Given the description of an element on the screen output the (x, y) to click on. 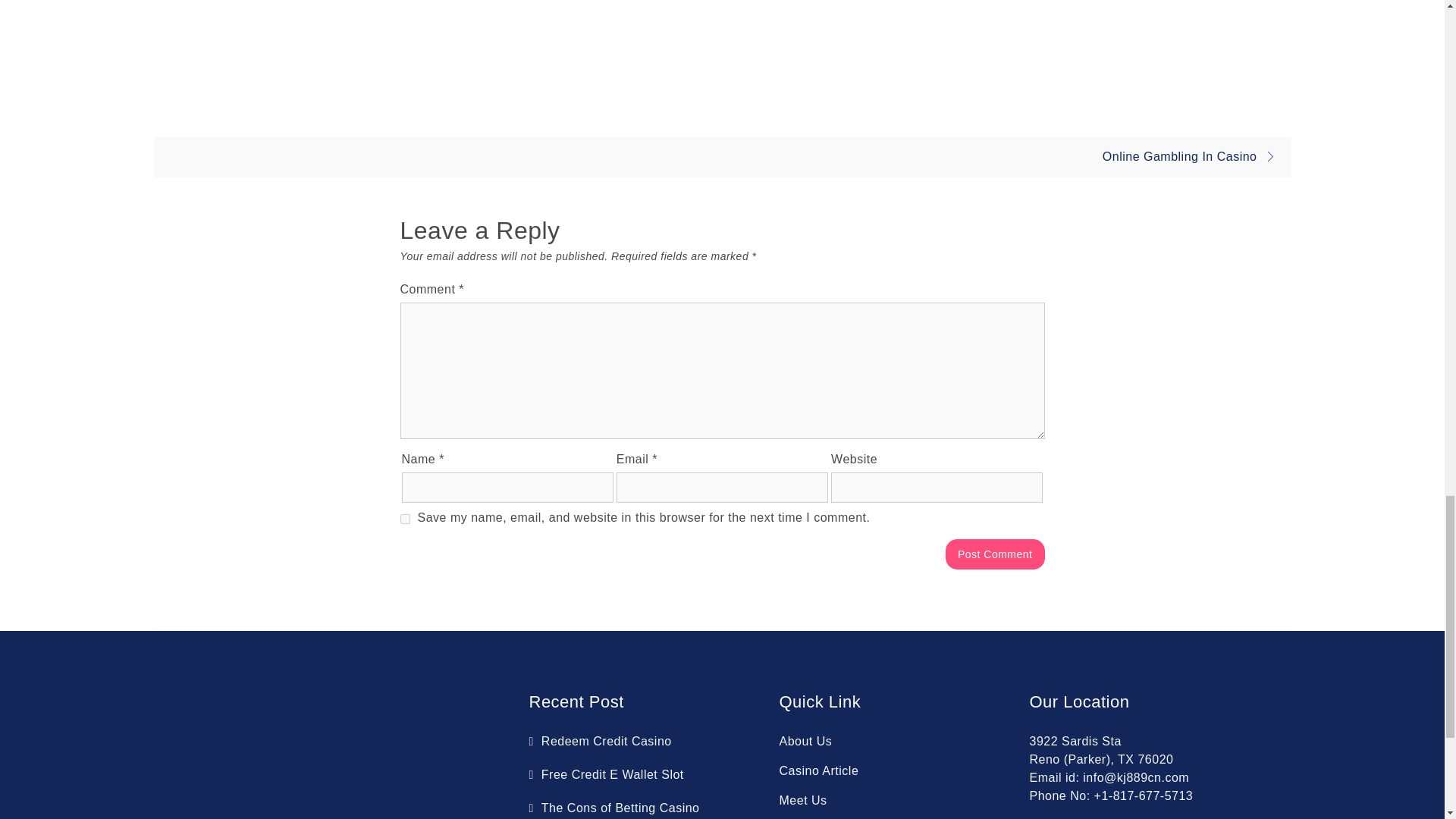
YouTube video player (721, 43)
Post Comment (994, 553)
The Cons of Betting Casino  (616, 807)
Post Comment (994, 553)
Free Credit E Wallet Slot (606, 774)
Casino Article (818, 770)
About Us (805, 740)
Redeem Credit Casino (600, 740)
Meet Us (802, 799)
Online Gambling In Casino (1193, 155)
